Given the description of an element on the screen output the (x, y) to click on. 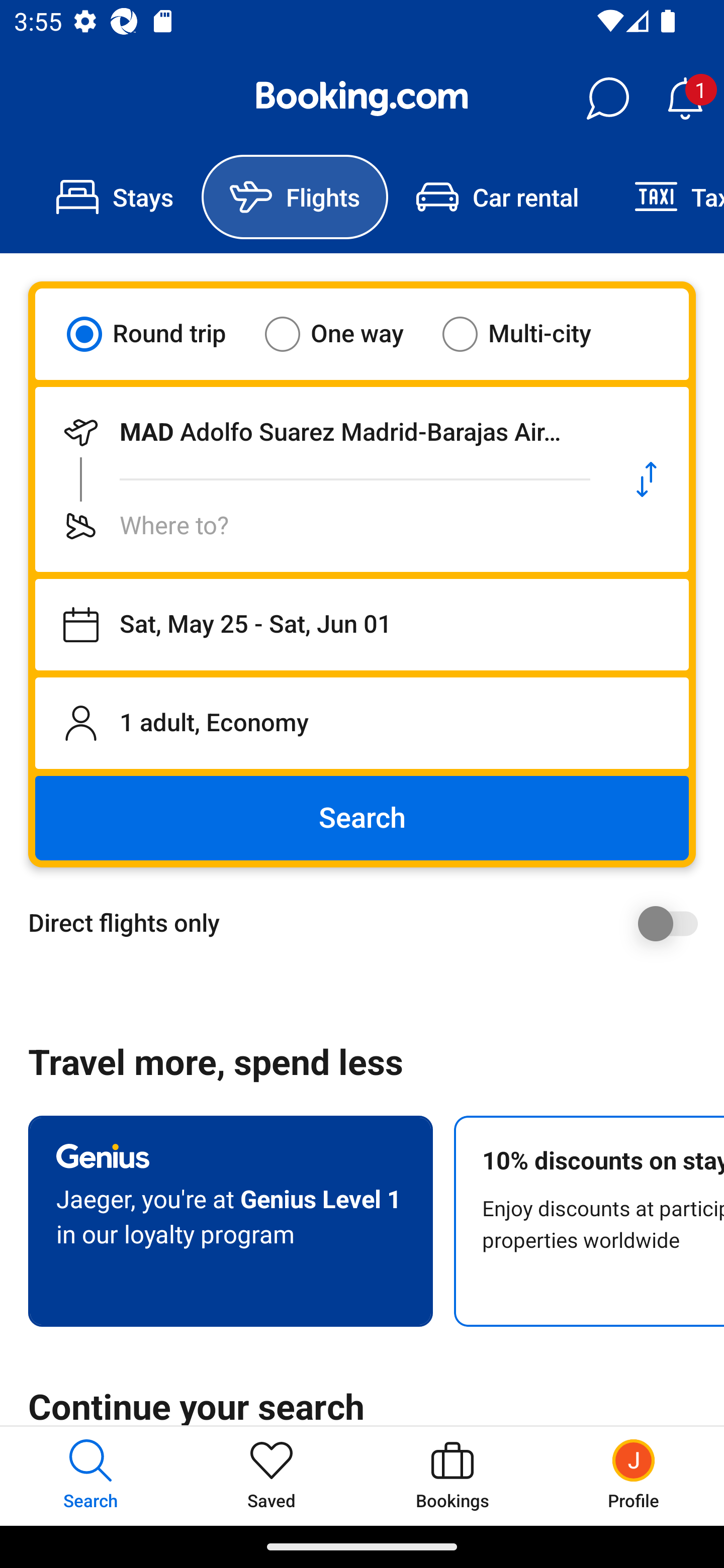
Messages (607, 98)
Notifications (685, 98)
Stays (114, 197)
Flights (294, 197)
Car rental (497, 197)
Taxi (665, 197)
One way (346, 333)
Multi-city (528, 333)
Swap departure location and destination (646, 479)
Flying to  (319, 525)
Departing on Sat, May 25, returning on Sat, Jun 01 (361, 624)
1 adult, Economy (361, 722)
Search (361, 818)
Direct flights only (369, 923)
Saved (271, 1475)
Bookings (452, 1475)
Profile (633, 1475)
